Given the description of an element on the screen output the (x, y) to click on. 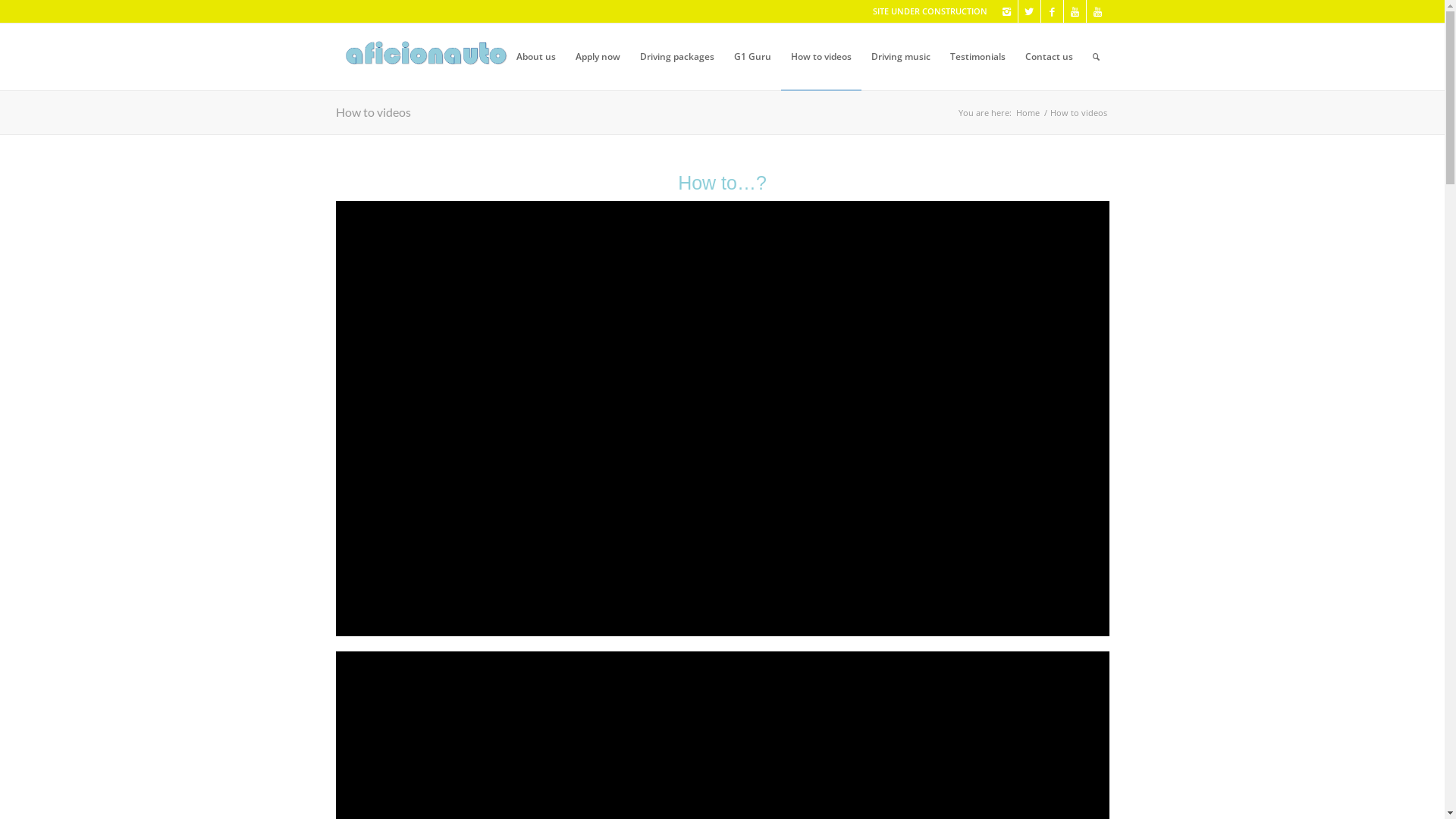
How to videos Element type: text (372, 111)
Driving packages Element type: text (676, 56)
Youtube Element type: hover (1074, 11)
About us Element type: text (535, 56)
Contact us Element type: text (1048, 56)
Testimonials Element type: text (977, 56)
Home Element type: text (1027, 112)
Twitter Element type: hover (1028, 11)
G1 Guru Element type: text (751, 56)
How to videos Element type: text (821, 56)
Youtube Element type: hover (1096, 11)
Apply now Element type: text (597, 56)
Facebook Element type: hover (1051, 11)
Instagram Element type: hover (1005, 11)
Driving music Element type: text (900, 56)
